Given the description of an element on the screen output the (x, y) to click on. 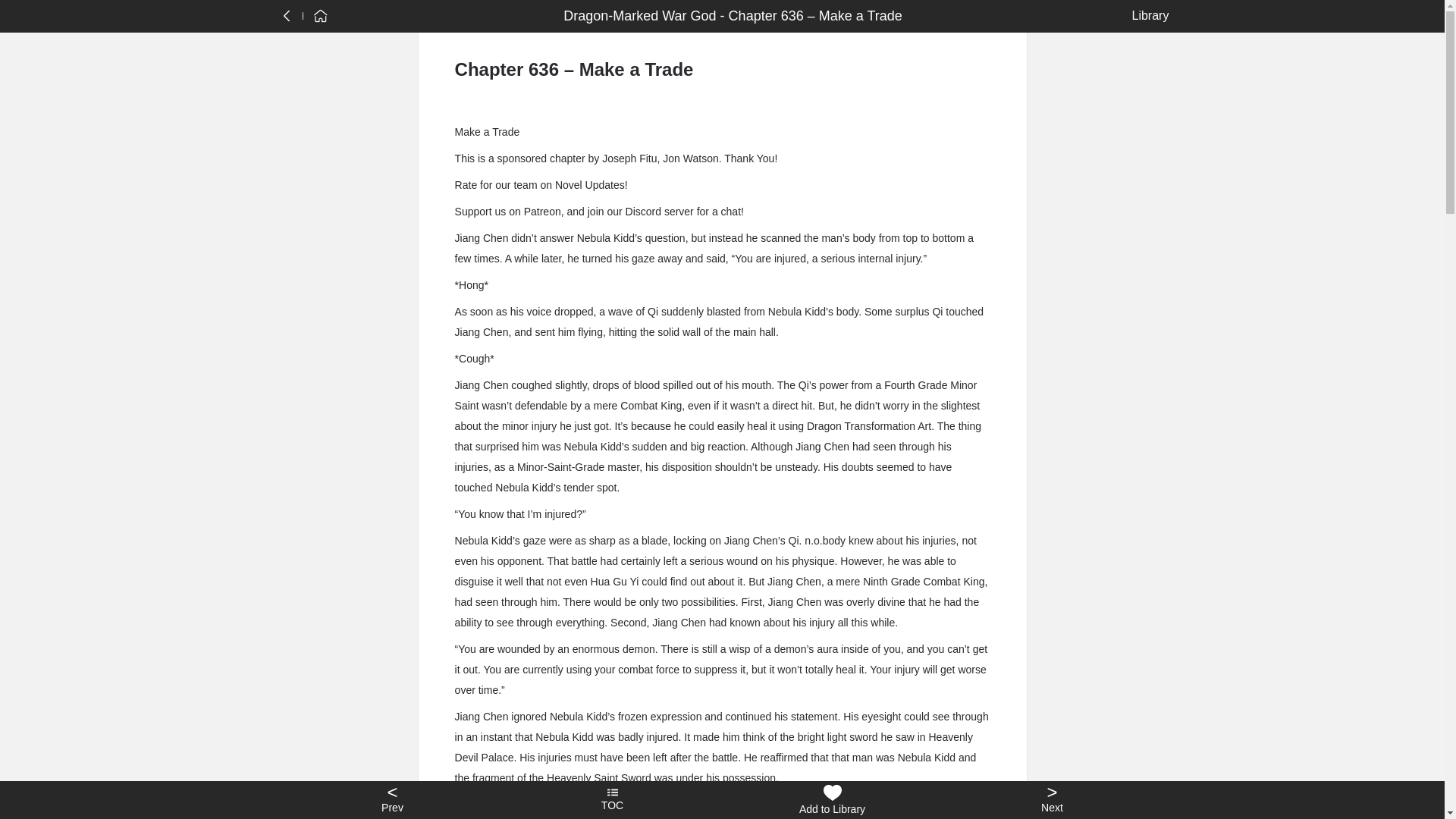
Add to Library (832, 800)
TOC (612, 800)
Library (1146, 15)
